Given the description of an element on the screen output the (x, y) to click on. 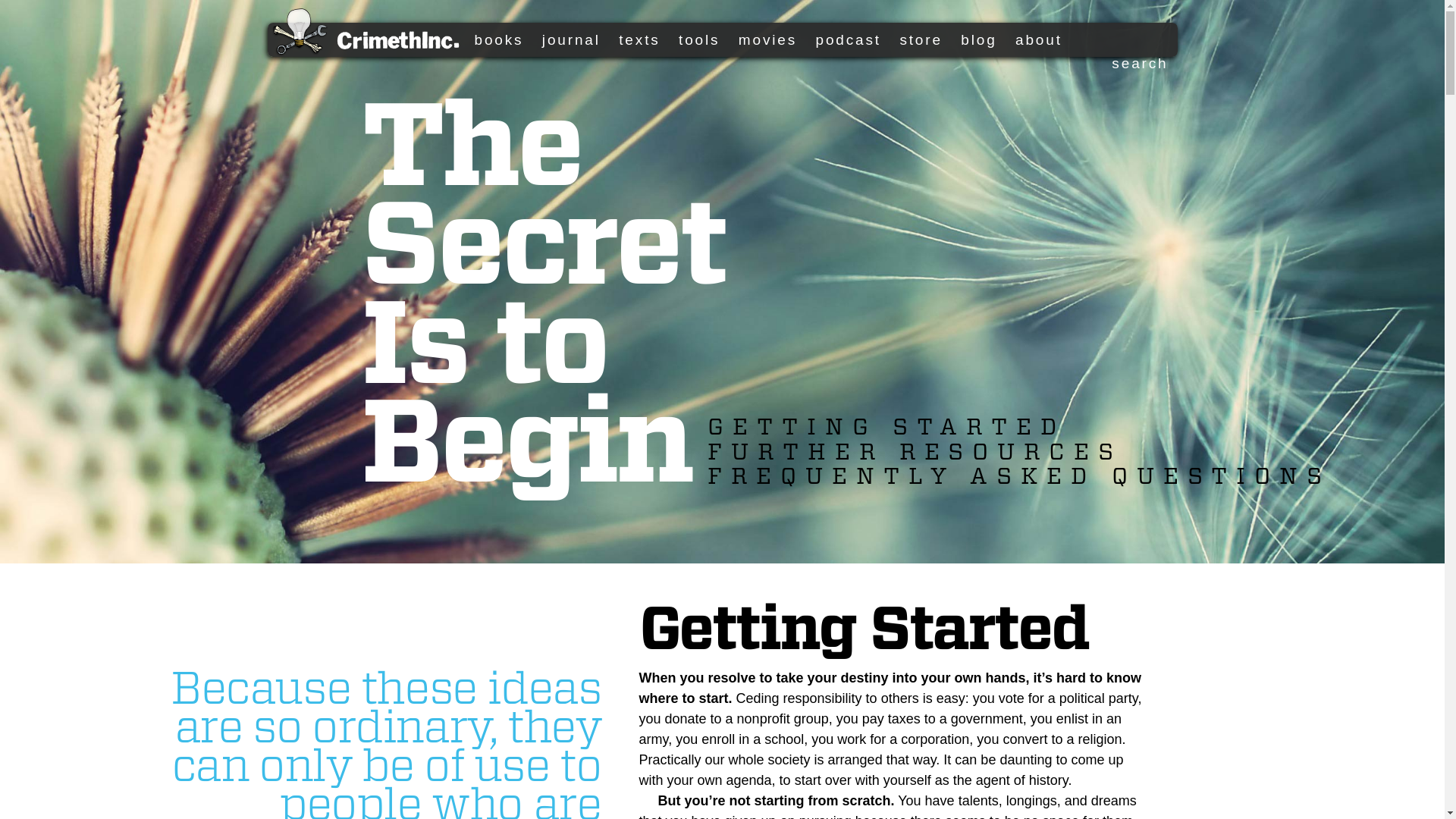
GETTING STARTED (886, 425)
about (1038, 39)
journal (570, 39)
blog (977, 39)
texts (638, 39)
podcast (847, 39)
FREQUENTLY ASKED QUESTIONS (1018, 474)
movies (767, 39)
search (1118, 62)
books (499, 39)
store (920, 39)
search (1118, 62)
tools (698, 39)
FURTHER RESOURCES (914, 451)
